Given the description of an element on the screen output the (x, y) to click on. 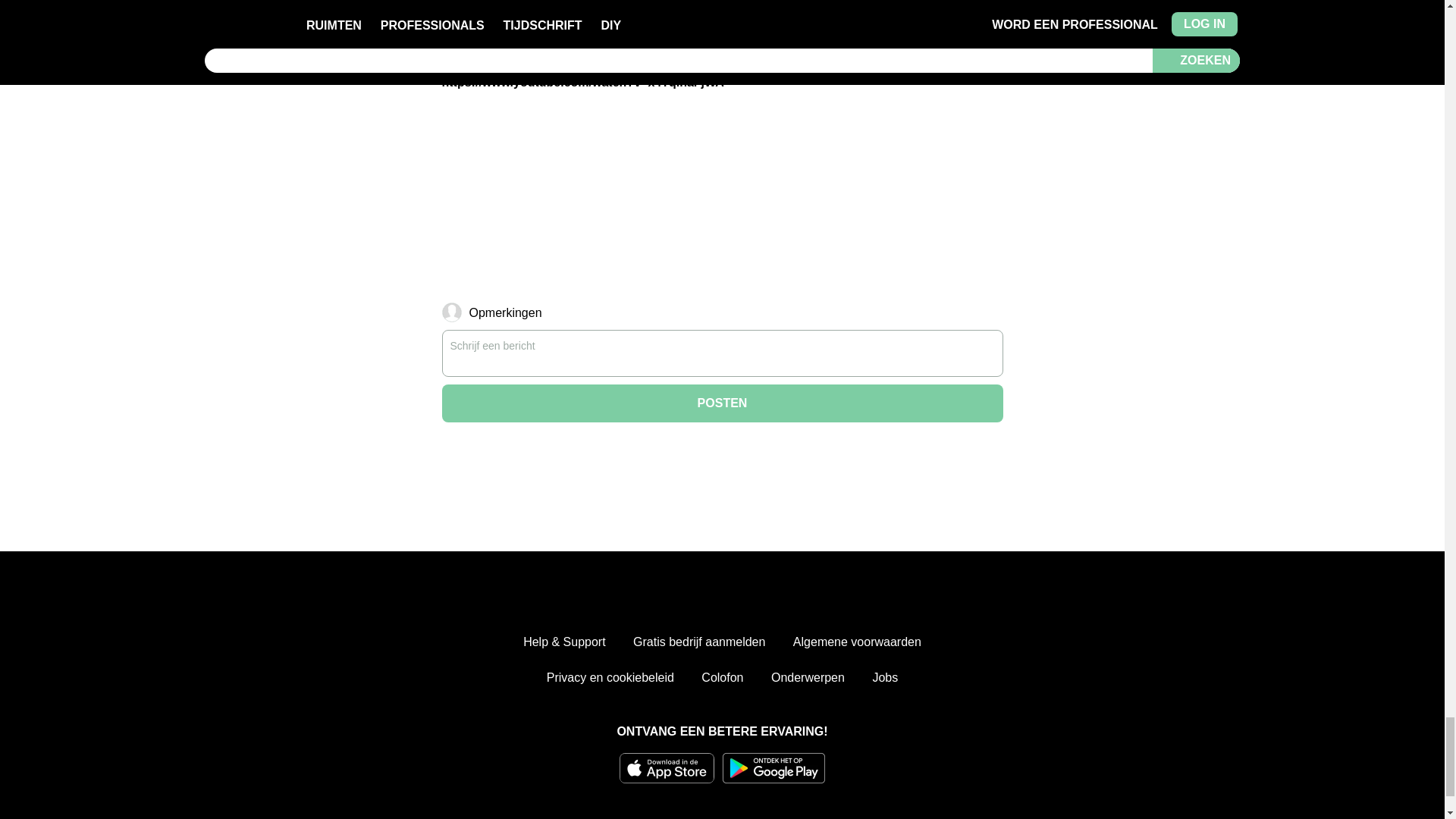
Posten (722, 403)
Onderwerpen (807, 678)
Jobs (885, 678)
Algemene voorwaarden (857, 642)
Privacy en cookiebeleid (610, 678)
Posten (722, 403)
Colofon (721, 678)
Gratis bedrijf aanmelden (699, 642)
